Given the description of an element on the screen output the (x, y) to click on. 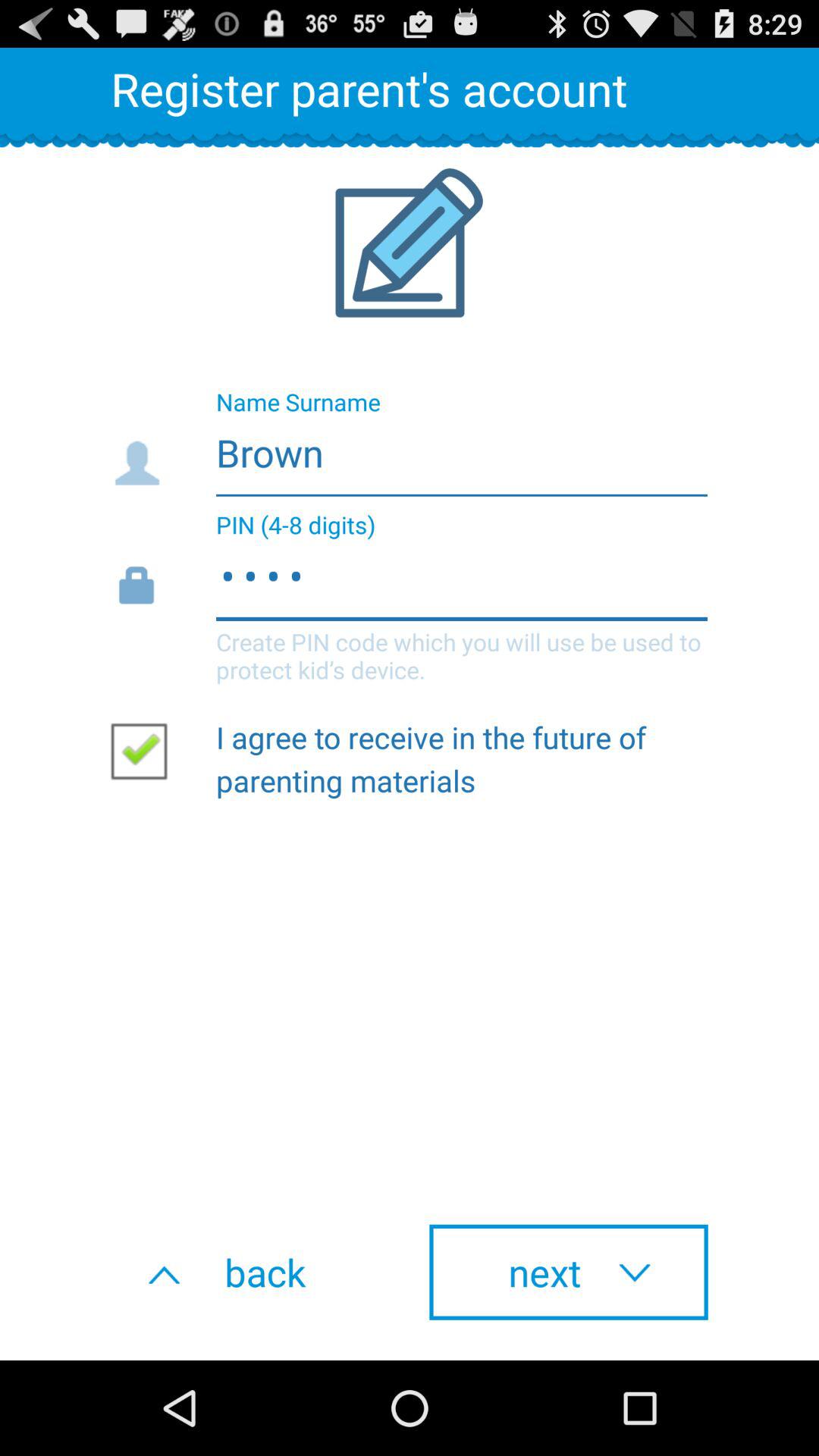
turn off the icon at the bottom left corner (249, 1272)
